Given the description of an element on the screen output the (x, y) to click on. 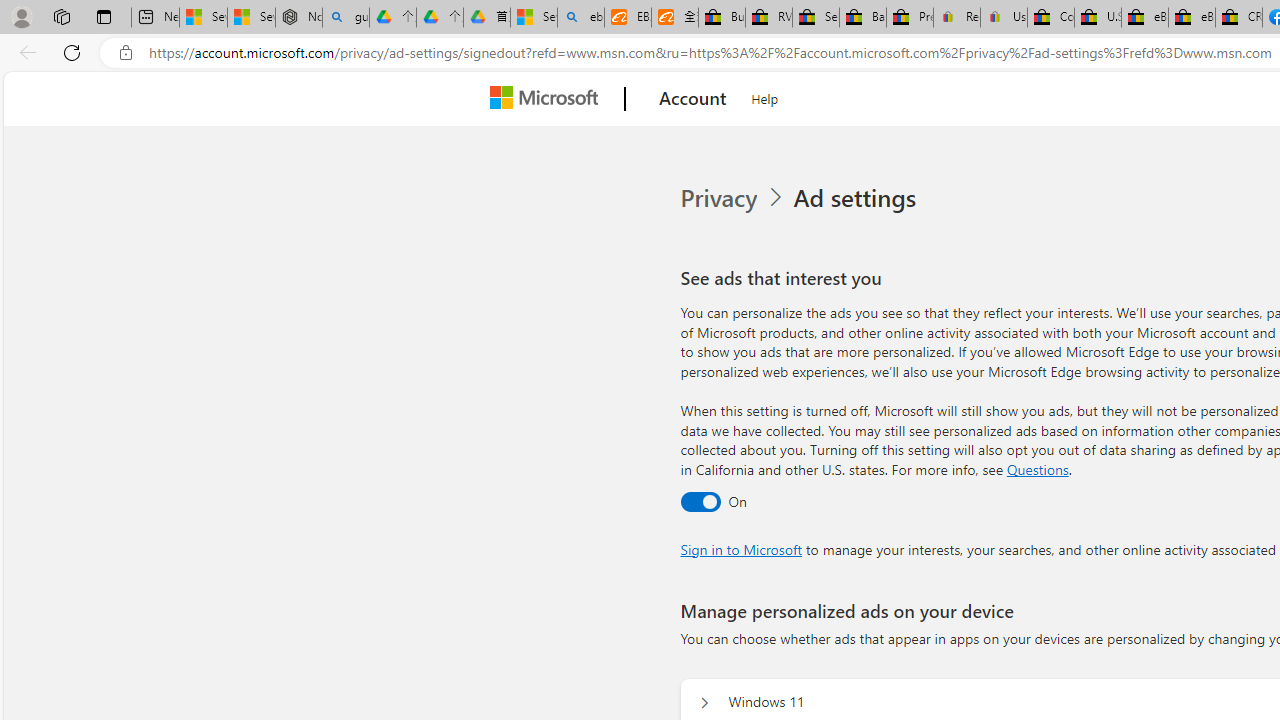
Press Room - eBay Inc. (910, 17)
U.S. State Privacy Disclosures - eBay Inc. (1098, 17)
Privacy (734, 197)
eBay Inc. Reports Third Quarter 2023 Results (1191, 17)
Register: Create a personal eBay account (957, 17)
Manage personalized ads on your device Windows 11 (704, 702)
Help (765, 96)
Consumer Health Data Privacy Policy - eBay Inc. (1050, 17)
Ad settings toggle (699, 501)
